Given the description of an element on the screen output the (x, y) to click on. 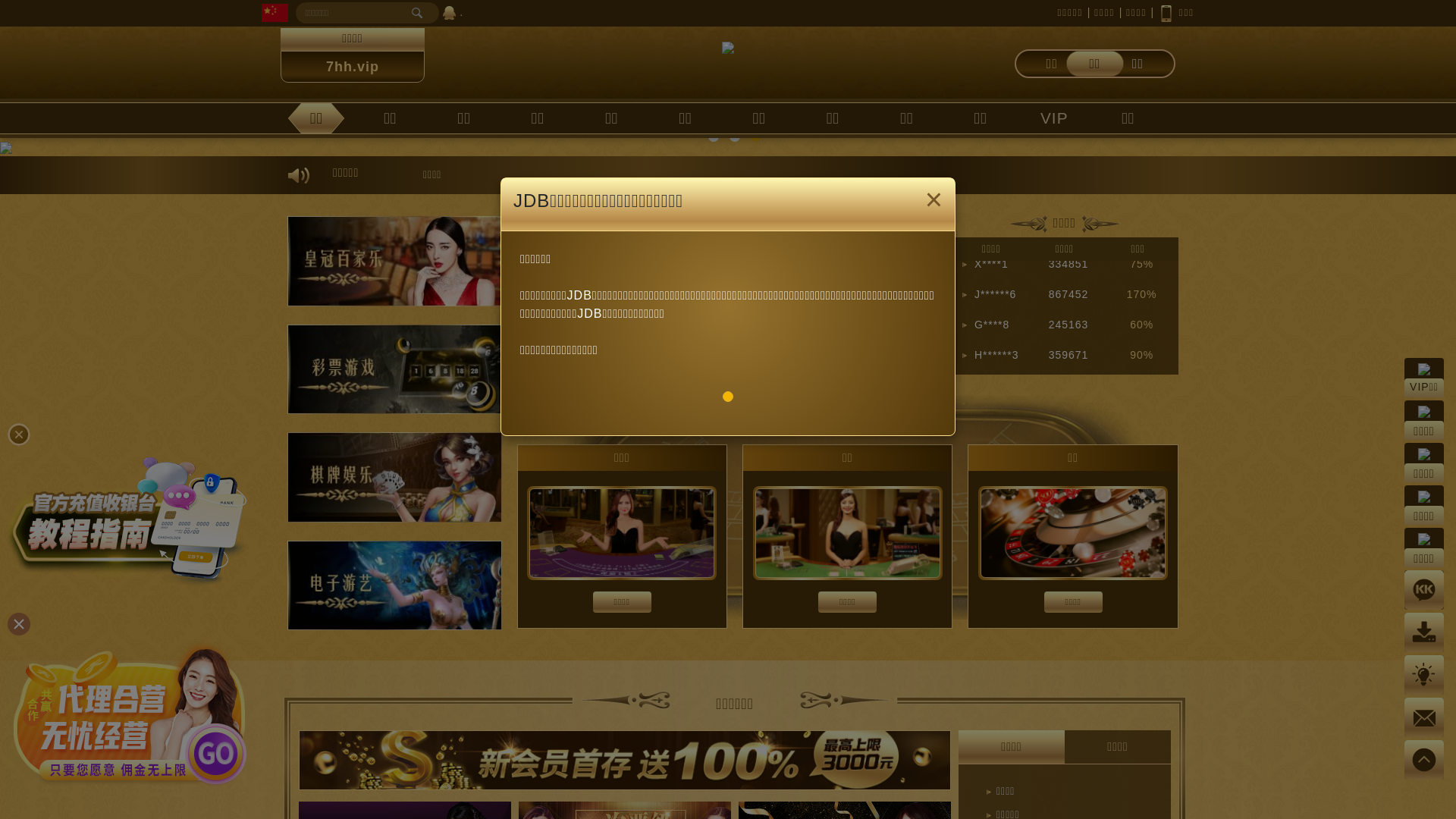
VIP Element type: text (1053, 118)
